Given the description of an element on the screen output the (x, y) to click on. 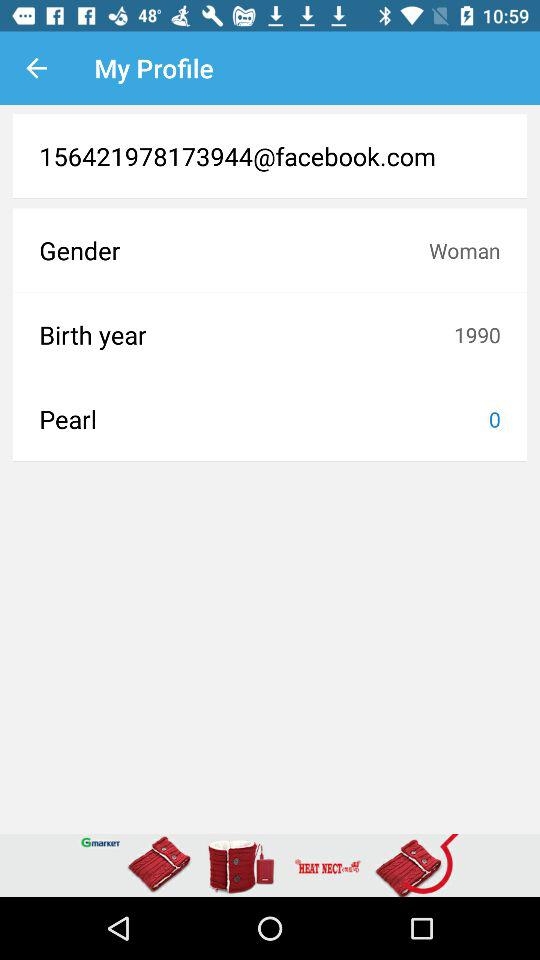
tap icon next to 1990 (246, 334)
